Given the description of an element on the screen output the (x, y) to click on. 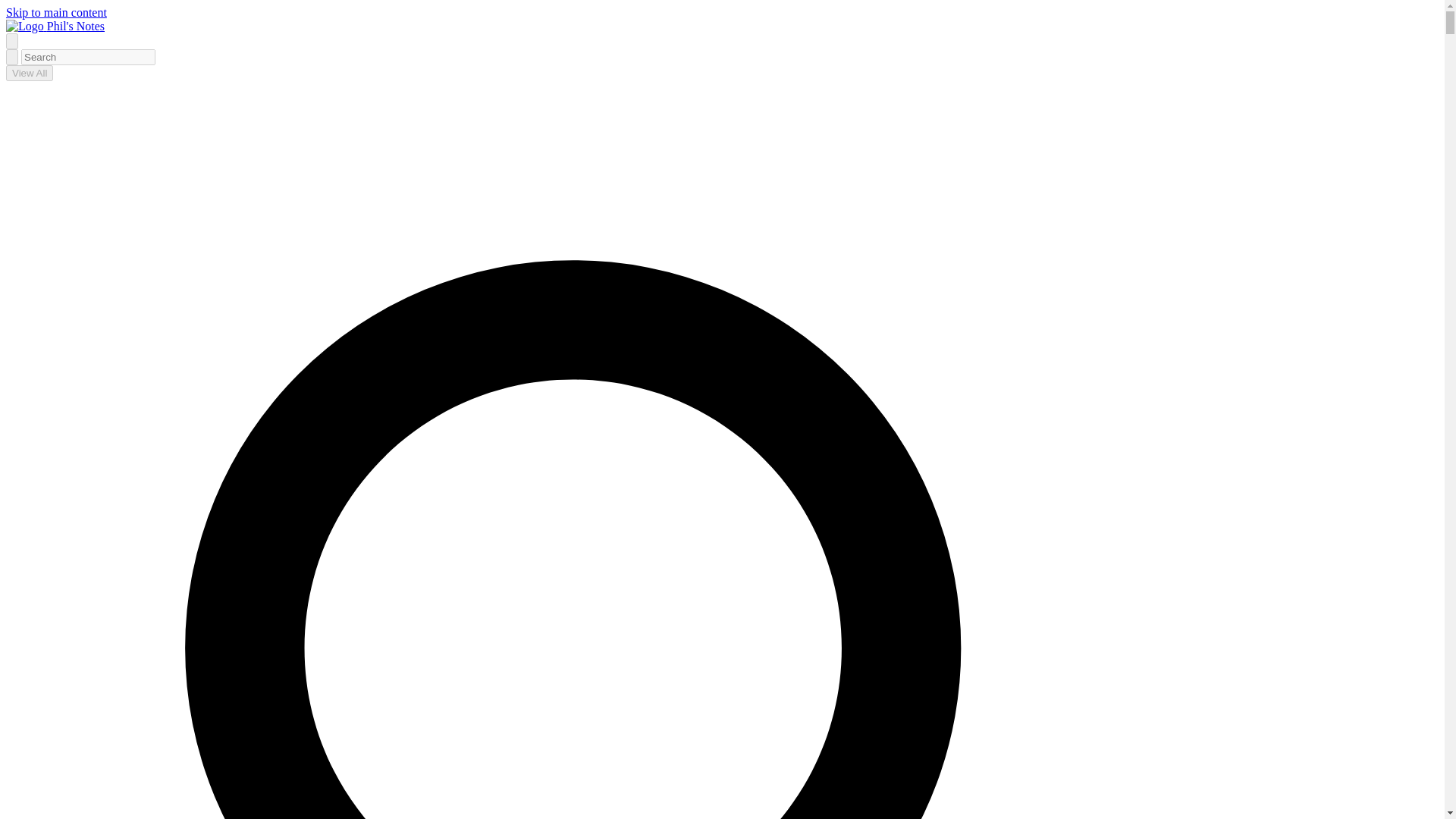
Skip to main content (55, 11)
View All (28, 73)
Phil's Notes (54, 25)
